Given the description of an element on the screen output the (x, y) to click on. 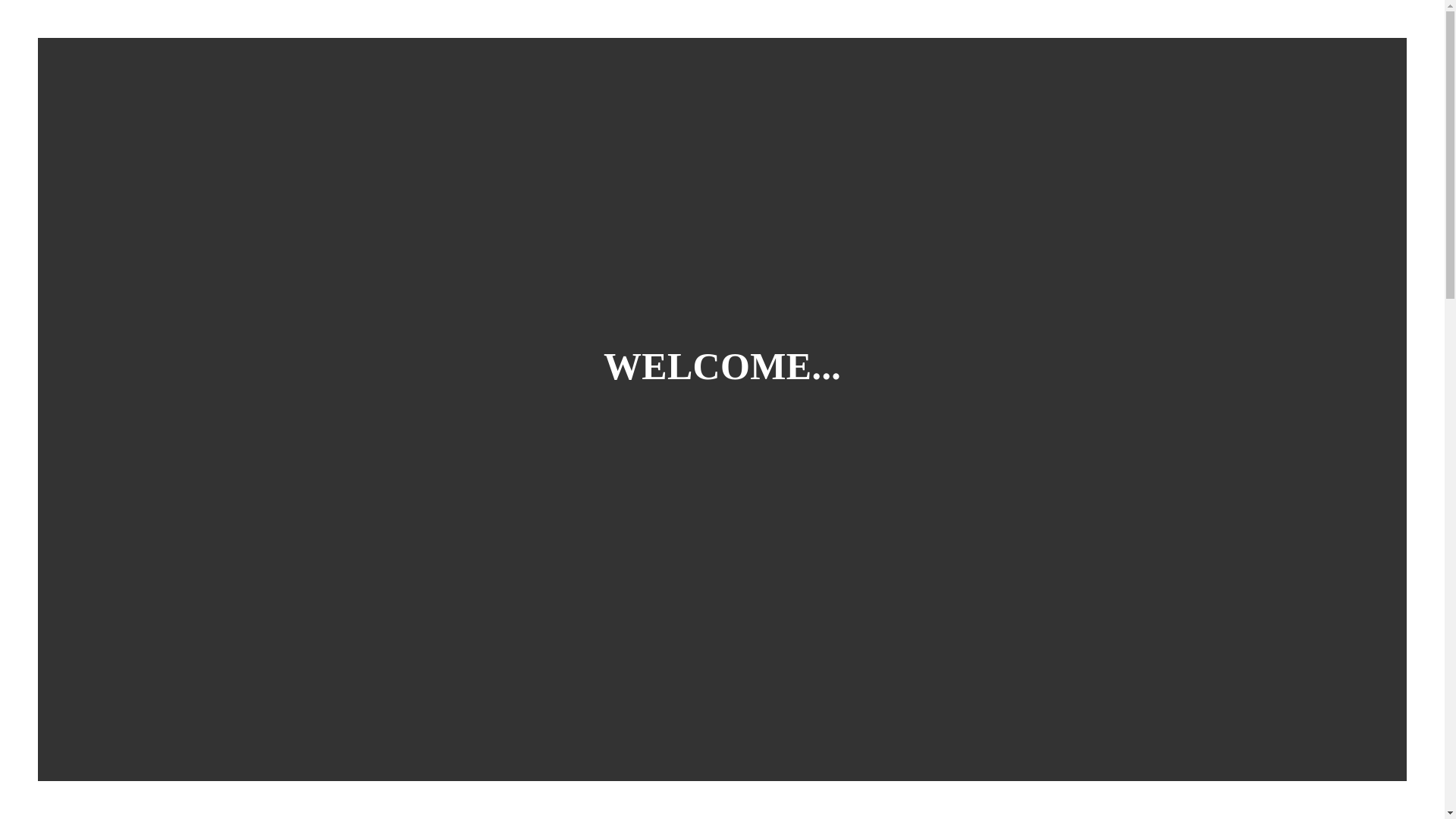
armenian physical traits (594, 815)
admin (338, 217)
The Ugly Side of Armenian Bride (603, 252)
